Given the description of an element on the screen output the (x, y) to click on. 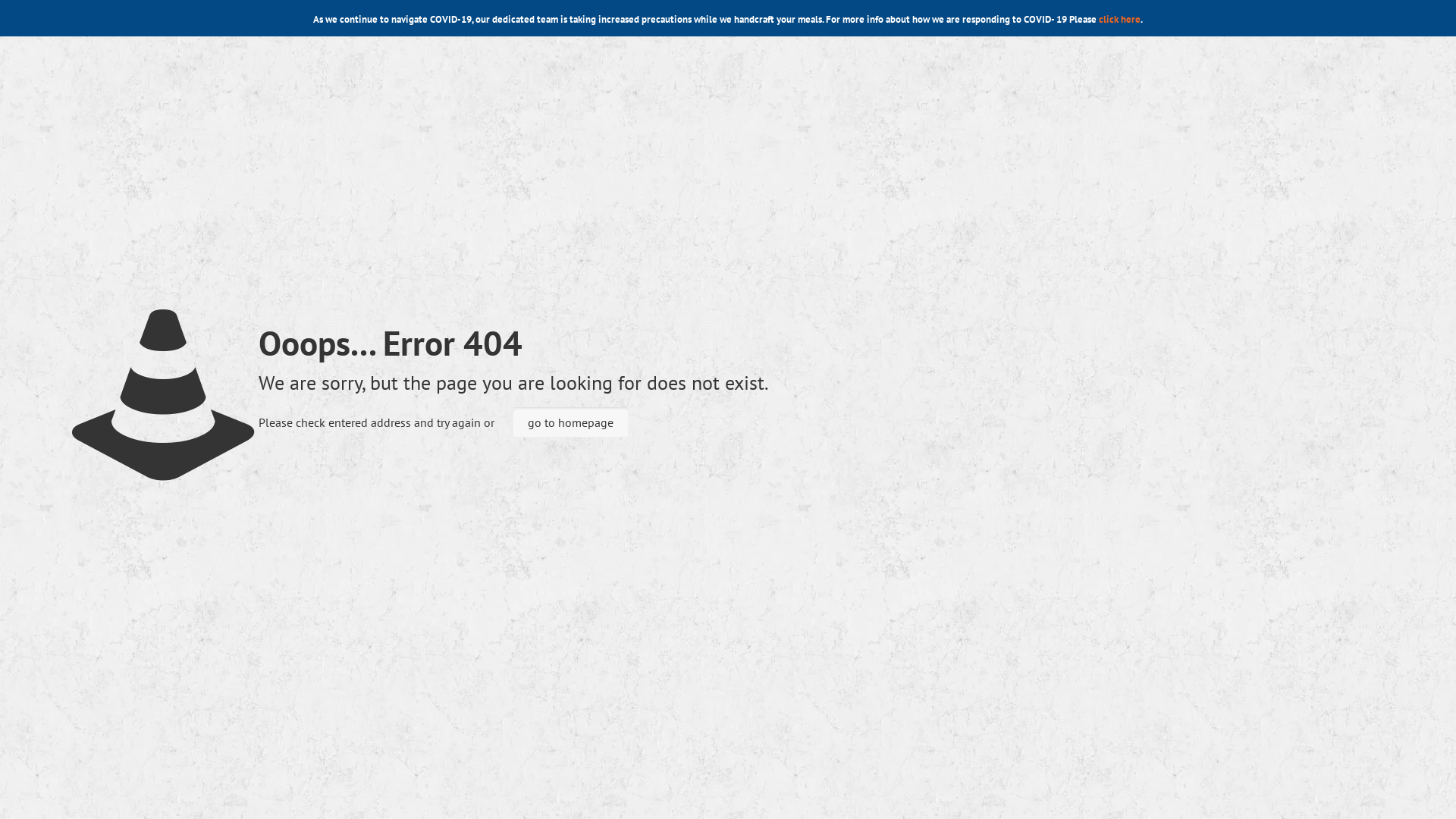
click here Element type: text (1119, 18)
go to homepage Element type: text (570, 422)
